Given the description of an element on the screen output the (x, y) to click on. 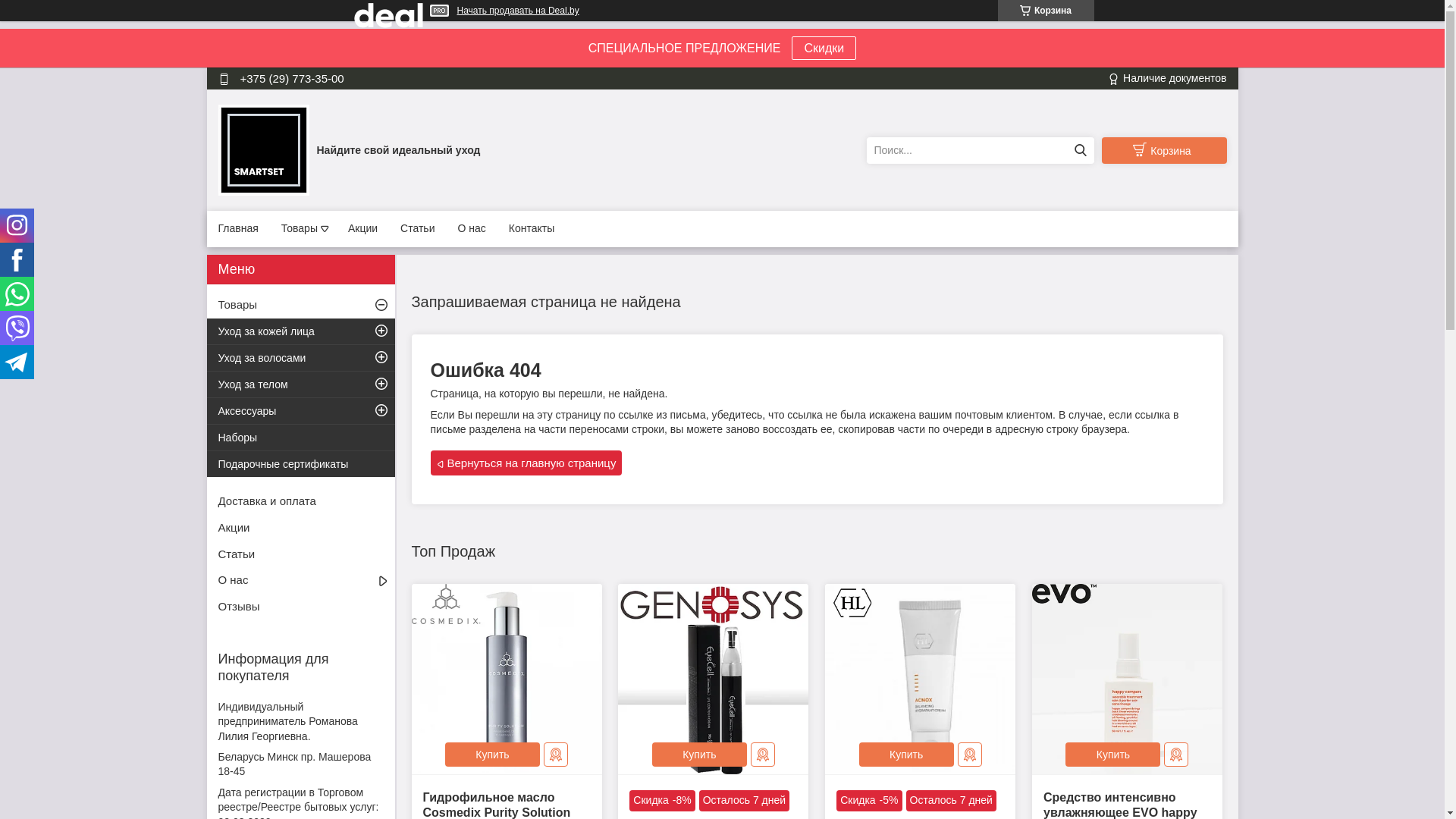
Smartset Element type: hover (263, 149)
